Given the description of an element on the screen output the (x, y) to click on. 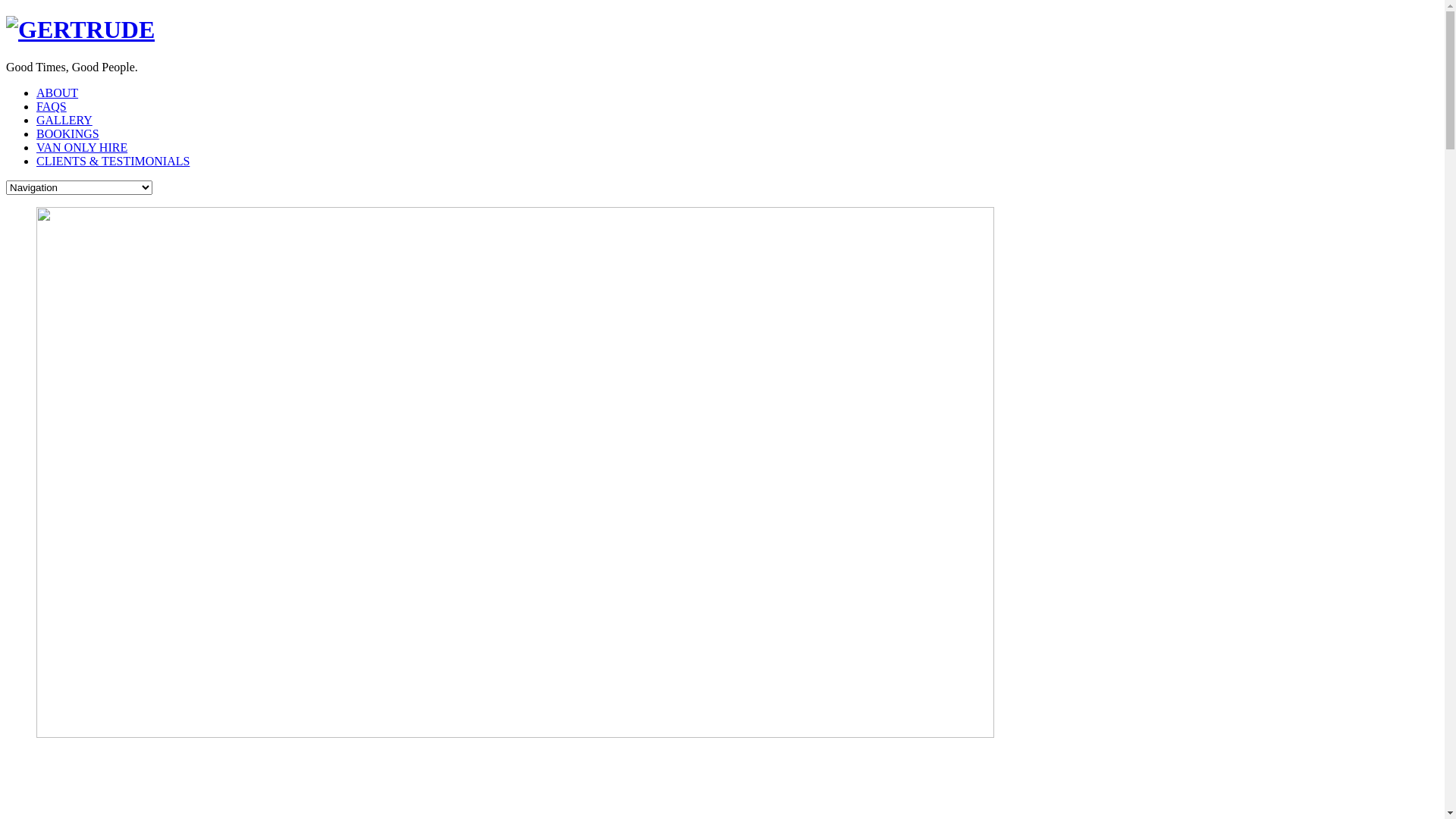
ABOUT Element type: text (57, 92)
VAN ONLY HIRE Element type: text (81, 147)
GERTRUDE Element type: hover (80, 29)
FAQS Element type: text (51, 106)
GALLERY Element type: text (64, 119)
BOOKINGS Element type: text (67, 133)
CLIENTS & TESTIMONIALS Element type: text (112, 160)
